Given the description of an element on the screen output the (x, y) to click on. 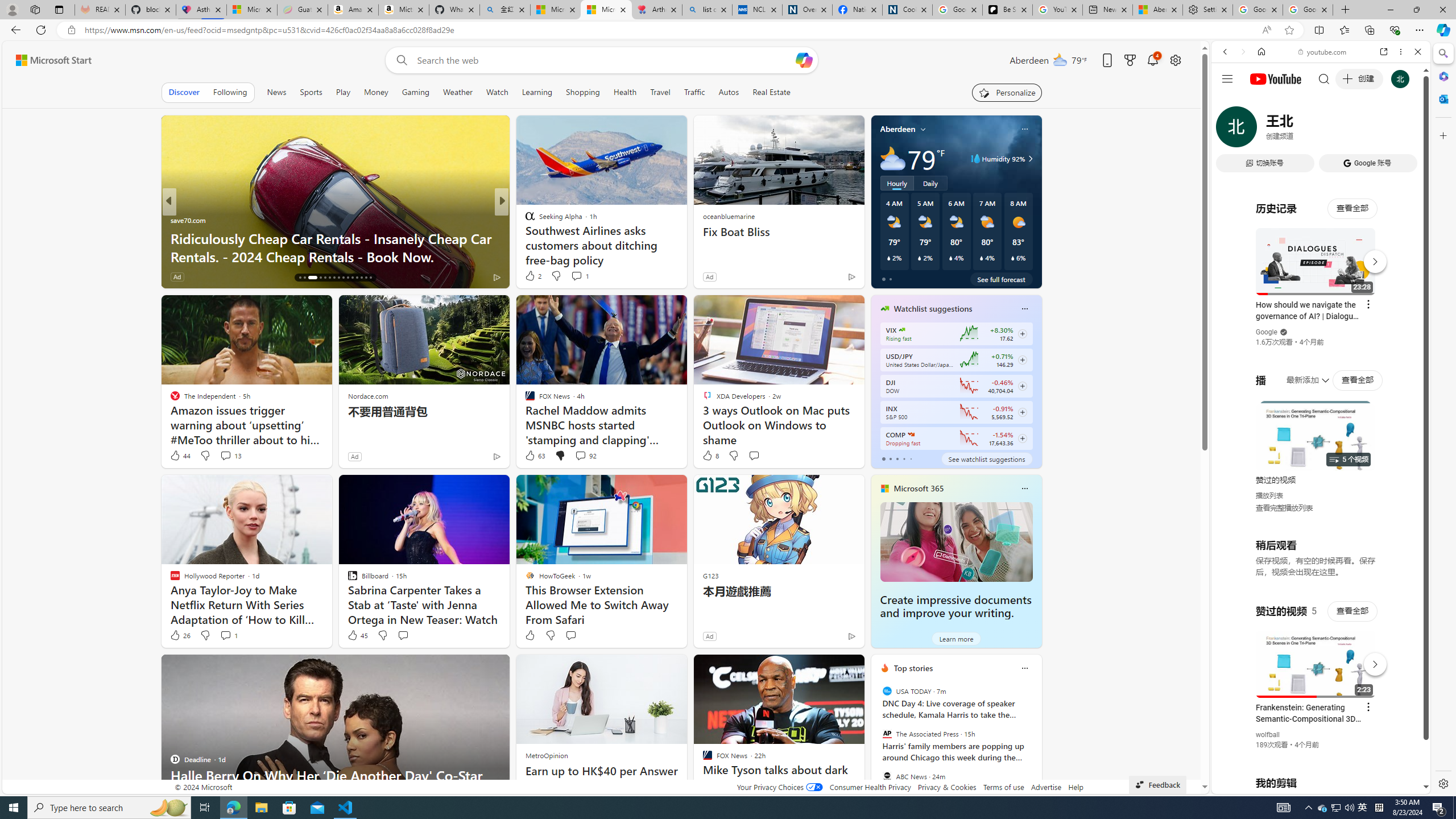
View comments 9 Comment (576, 276)
YouTube (1315, 655)
Gaming (415, 92)
Watch (497, 92)
Autos (728, 92)
Settings (1442, 783)
AutomationID: tab-27 (356, 277)
wolfball (1268, 734)
Money (376, 92)
Read aloud this page (Ctrl+Shift+U) (1266, 29)
26 Like (179, 634)
